Given the description of an element on the screen output the (x, y) to click on. 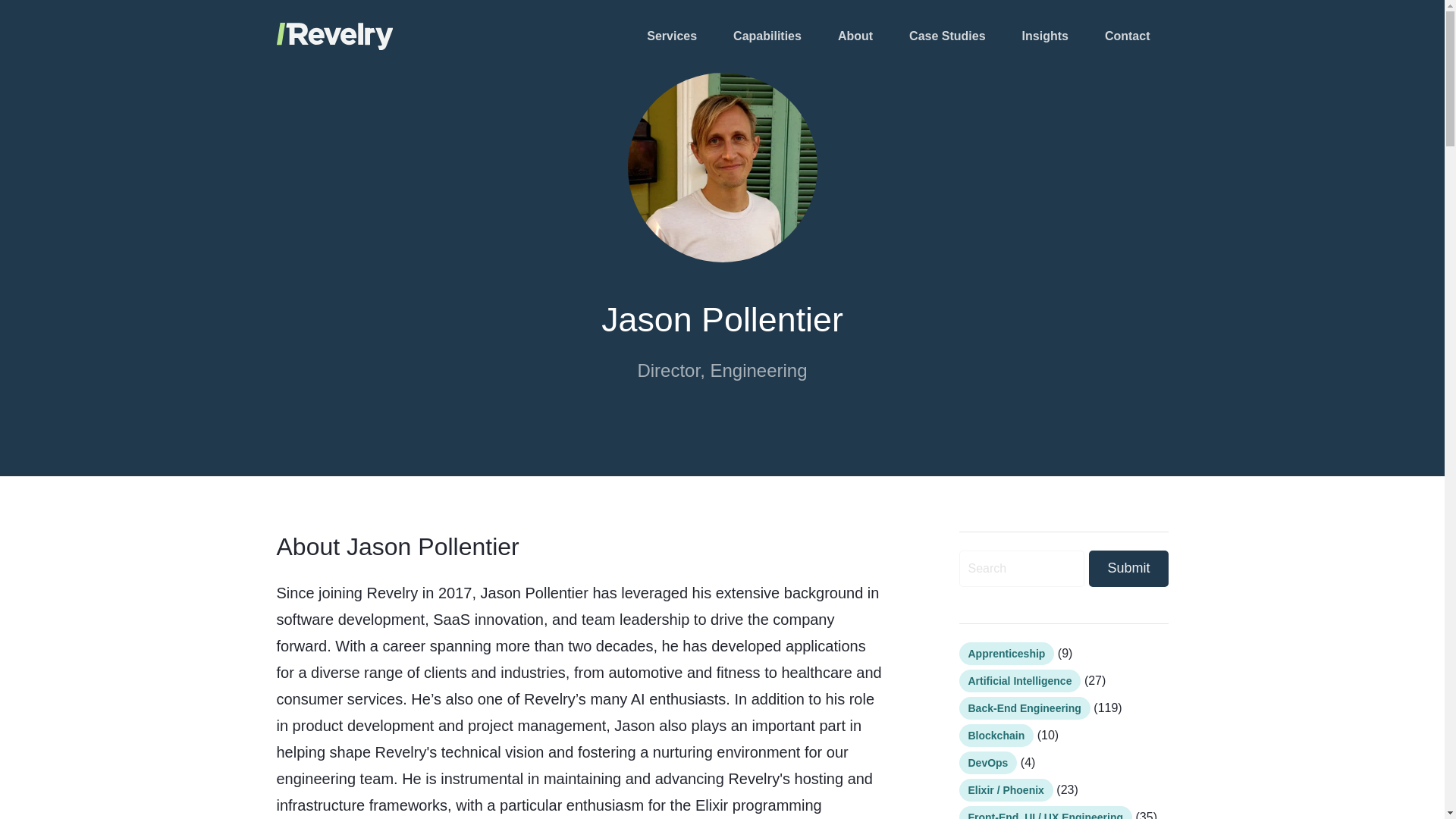
Case Studies (946, 36)
Submit (1128, 568)
Revelry (296, 26)
Capabilities (766, 36)
Services (671, 36)
About (855, 36)
Insights (1045, 36)
Submit (1128, 568)
